Given the description of an element on the screen output the (x, y) to click on. 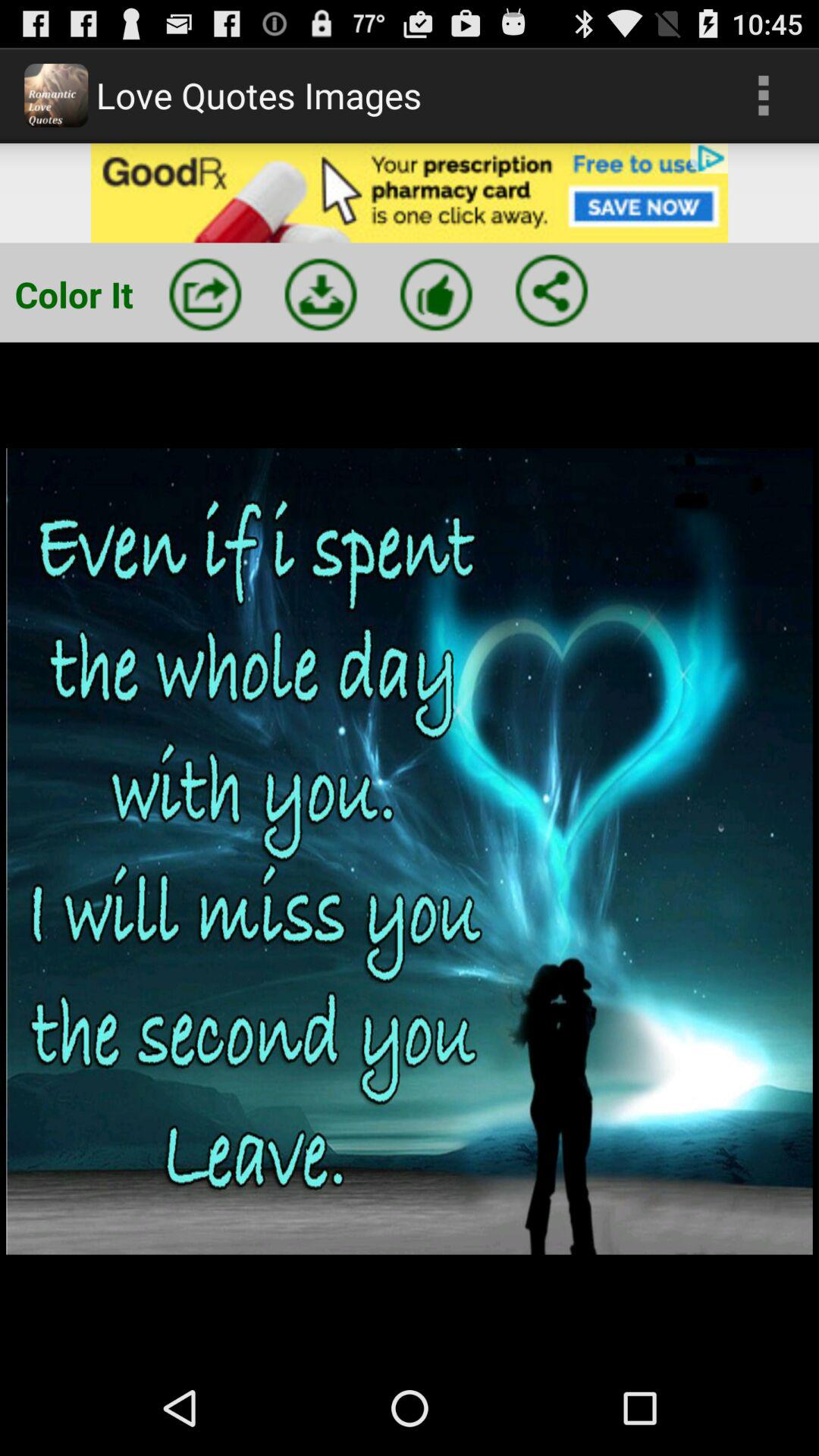
share button (205, 294)
